Given the description of an element on the screen output the (x, y) to click on. 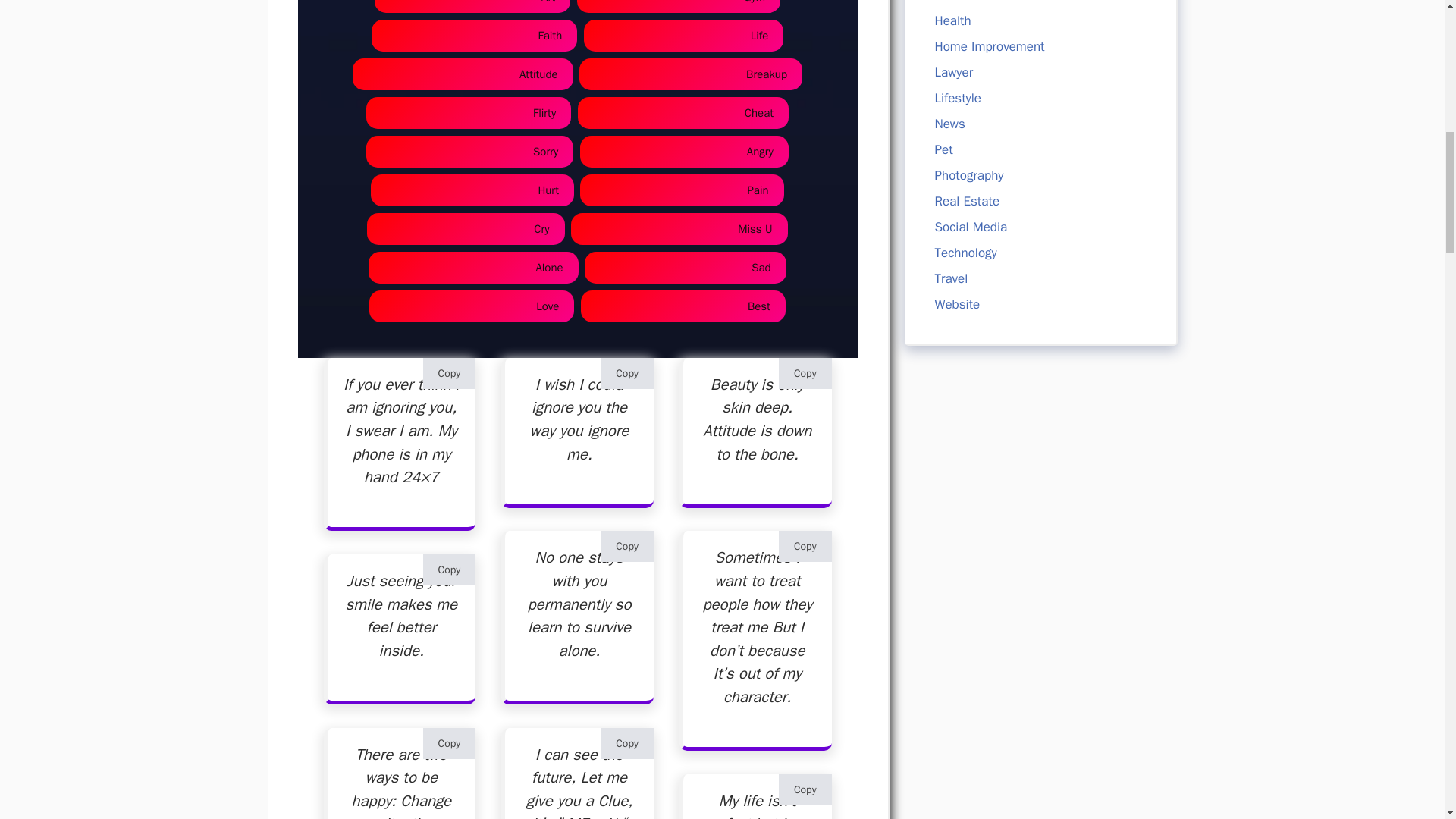
Copy to Clipboard (449, 569)
Copy to Clipboard (449, 373)
Copy to Clipboard (449, 743)
